Given the description of an element on the screen output the (x, y) to click on. 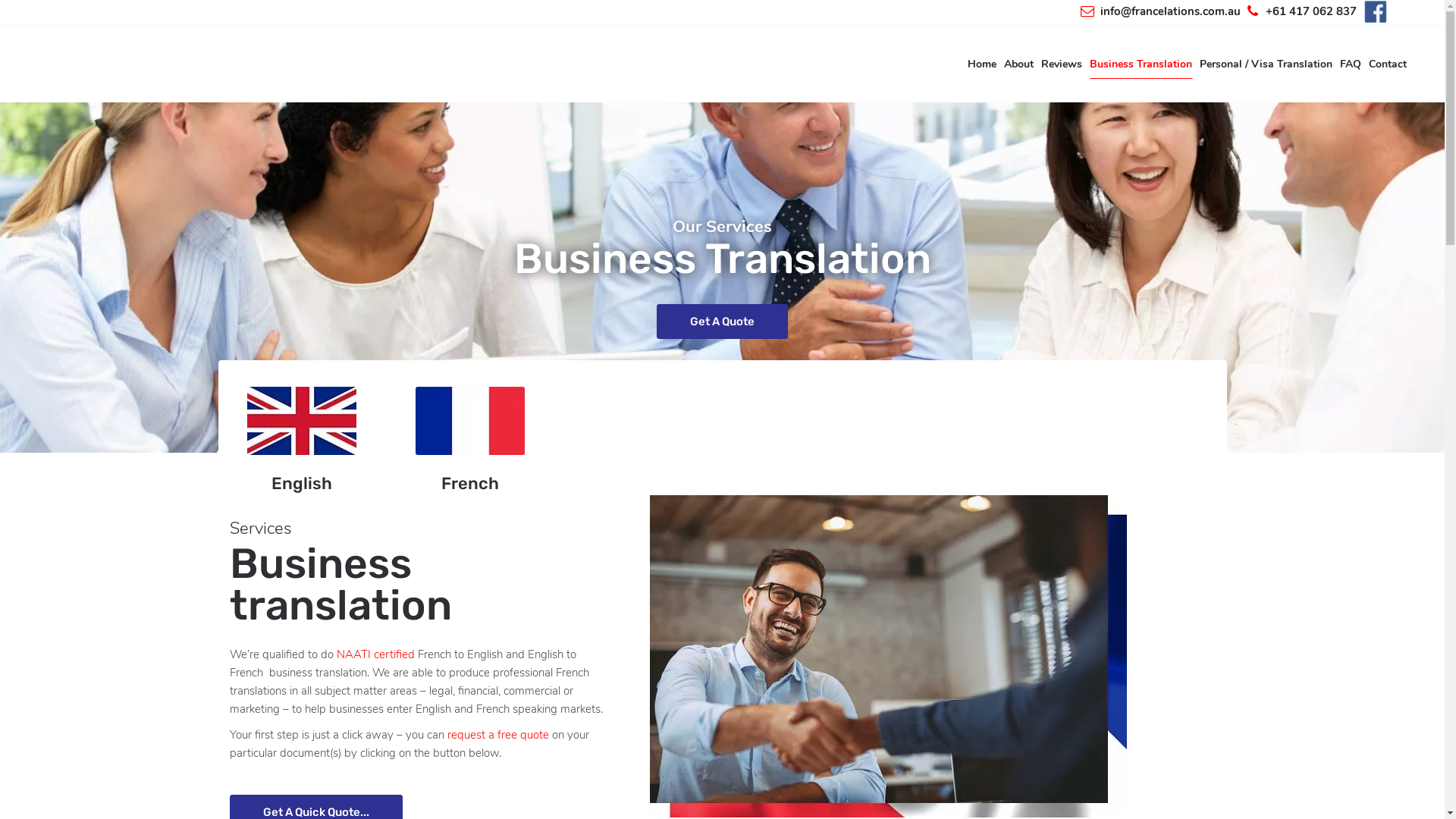
info@francelations.com.au Element type: text (1158, 11)
Personal / Visa Translation Element type: text (1265, 64)
Home Element type: text (981, 64)
FAQ Element type: text (1350, 64)
NAATI certified Element type: text (375, 654)
Business Translation Element type: text (1140, 64)
Contact Element type: text (1387, 64)
Get A Quote Element type: text (721, 321)
home-image-3 Element type: hover (469, 420)
About Element type: text (1018, 64)
request a free quote Element type: text (498, 734)
Reviews Element type: text (1061, 64)
Business translation Element type: hover (887, 656)
home-image-1 Element type: hover (301, 420)
